Given the description of an element on the screen output the (x, y) to click on. 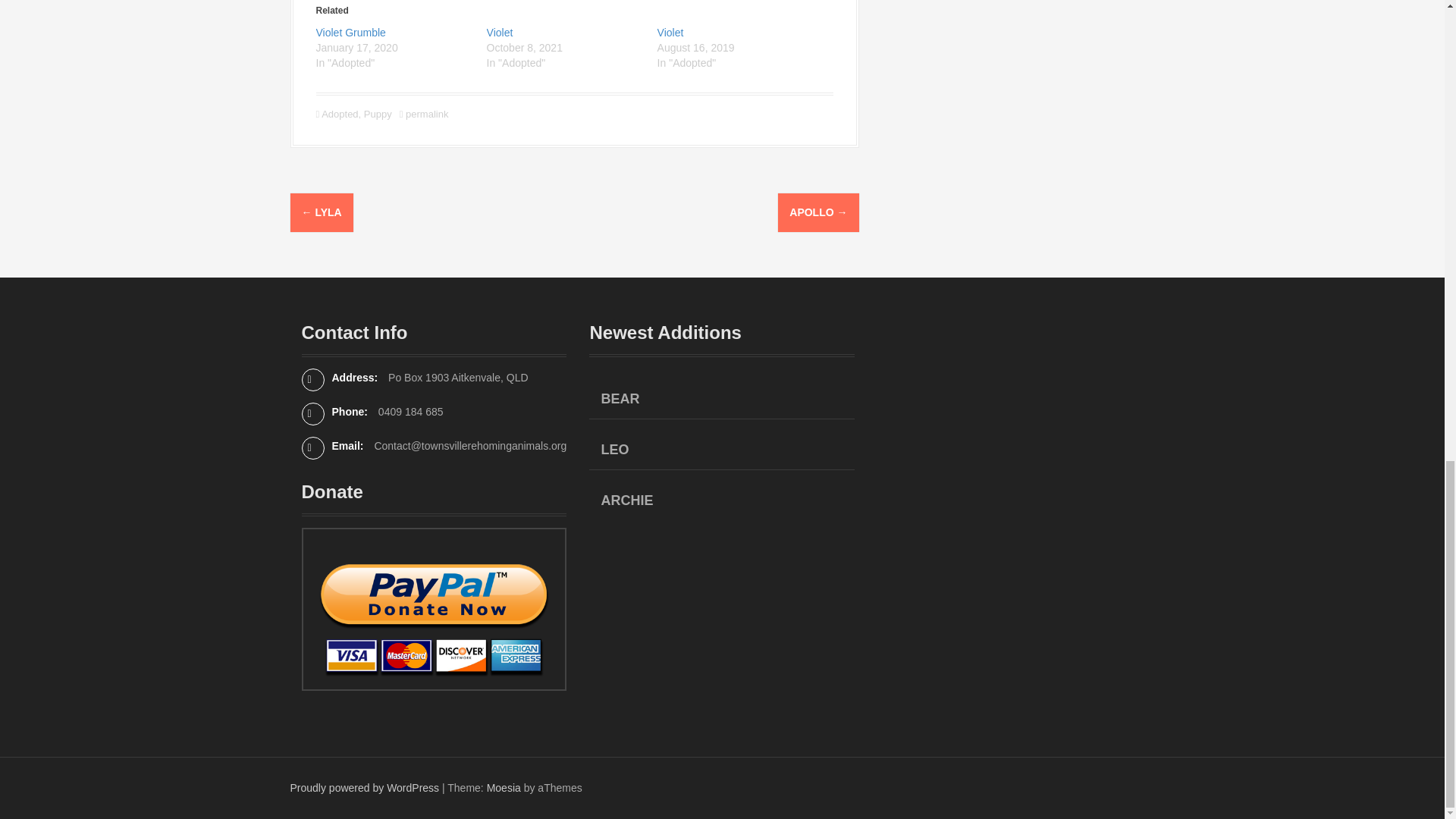
permalink (425, 113)
Puppy (377, 113)
Violet Grumble (350, 32)
Violet (499, 32)
Violet (499, 32)
Violet Grumble (350, 32)
Violet (671, 32)
Adopted (339, 113)
Violet (671, 32)
